Given the description of an element on the screen output the (x, y) to click on. 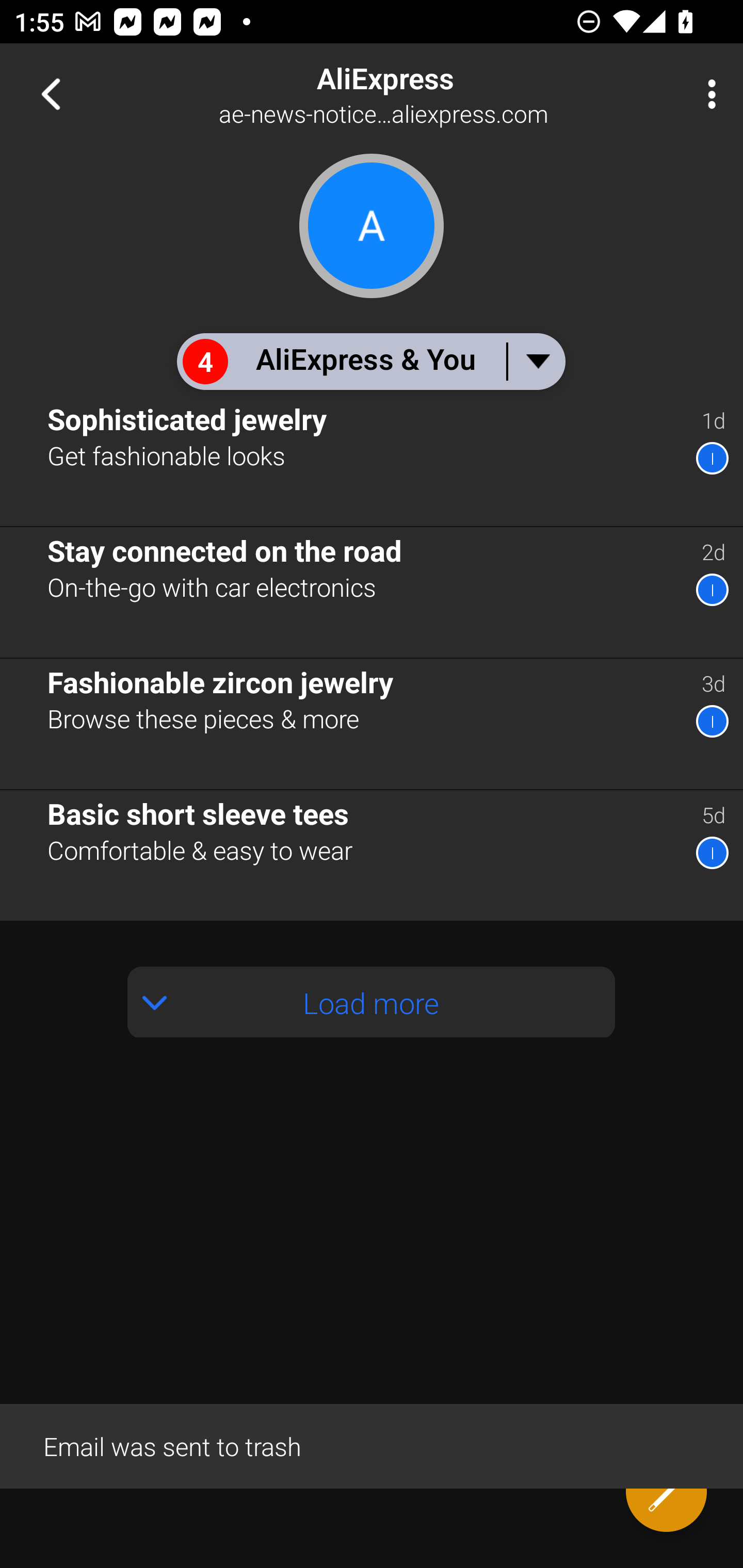
Navigate up (50, 93)
AliExpress ae-news-notice03@mail.aliexpress.com (436, 93)
More Options (706, 93)
4 AliExpress & You (370, 361)
Load more (371, 1001)
Email was sent to trash (371, 1445)
